Given the description of an element on the screen output the (x, y) to click on. 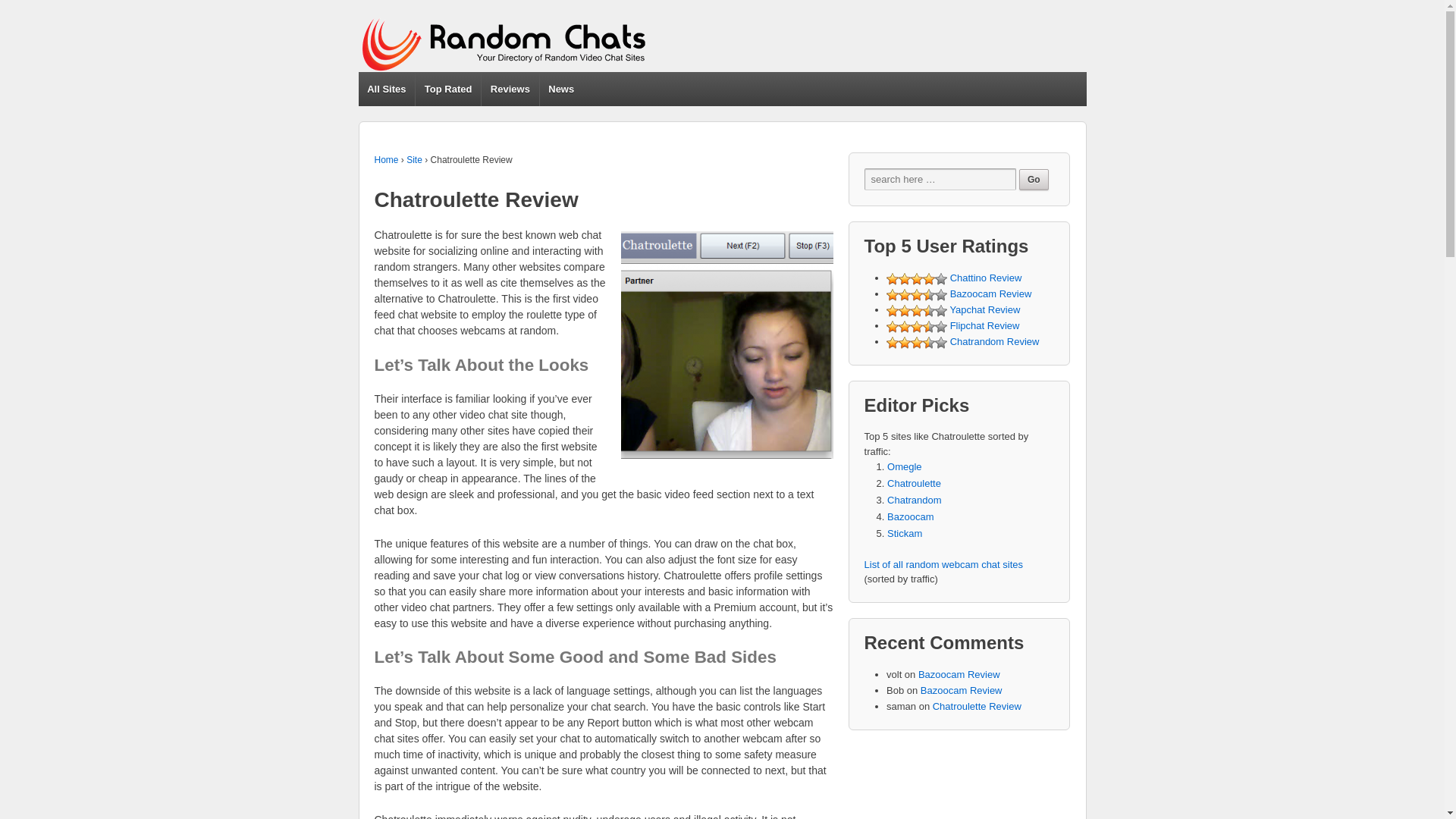
Go (1033, 178)
Bazoocam Review (991, 293)
10 votes, average: 4.10 out of 5 (904, 278)
Yapchat Review (984, 309)
Flipchat Review (985, 325)
Chatroulette Review (977, 706)
Chatrandom Review (994, 341)
All Sites (386, 89)
10 votes, average: 4.10 out of 5 (917, 278)
List of all random webcam chat sites (943, 563)
